Given the description of an element on the screen output the (x, y) to click on. 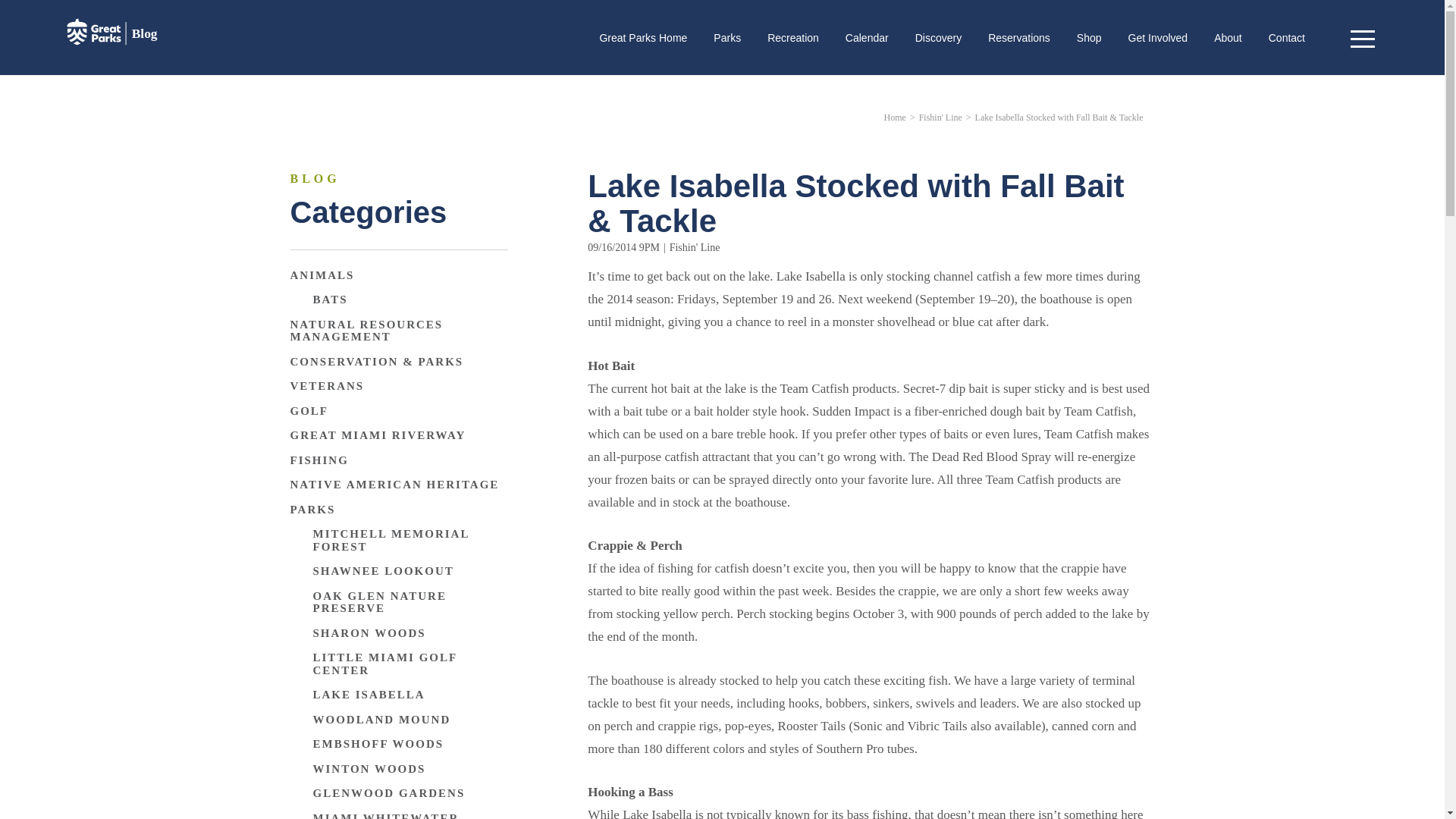
NATIVE AMERICAN HERITAGE (394, 484)
Fishin' Line (694, 247)
Go to . (894, 117)
GREAT MIAMI RIVERWAY (377, 435)
BATS (330, 299)
ANIMALS (321, 275)
Great Parks Home (642, 37)
Go to the Fishin' Line category archives. (940, 117)
NATURAL RESOURCES MANAGEMENT (397, 330)
Fishin' Line (940, 117)
Shop (1089, 37)
FISHING (318, 460)
Calendar (866, 37)
GOLF (309, 410)
Recreation (792, 37)
